Given the description of an element on the screen output the (x, y) to click on. 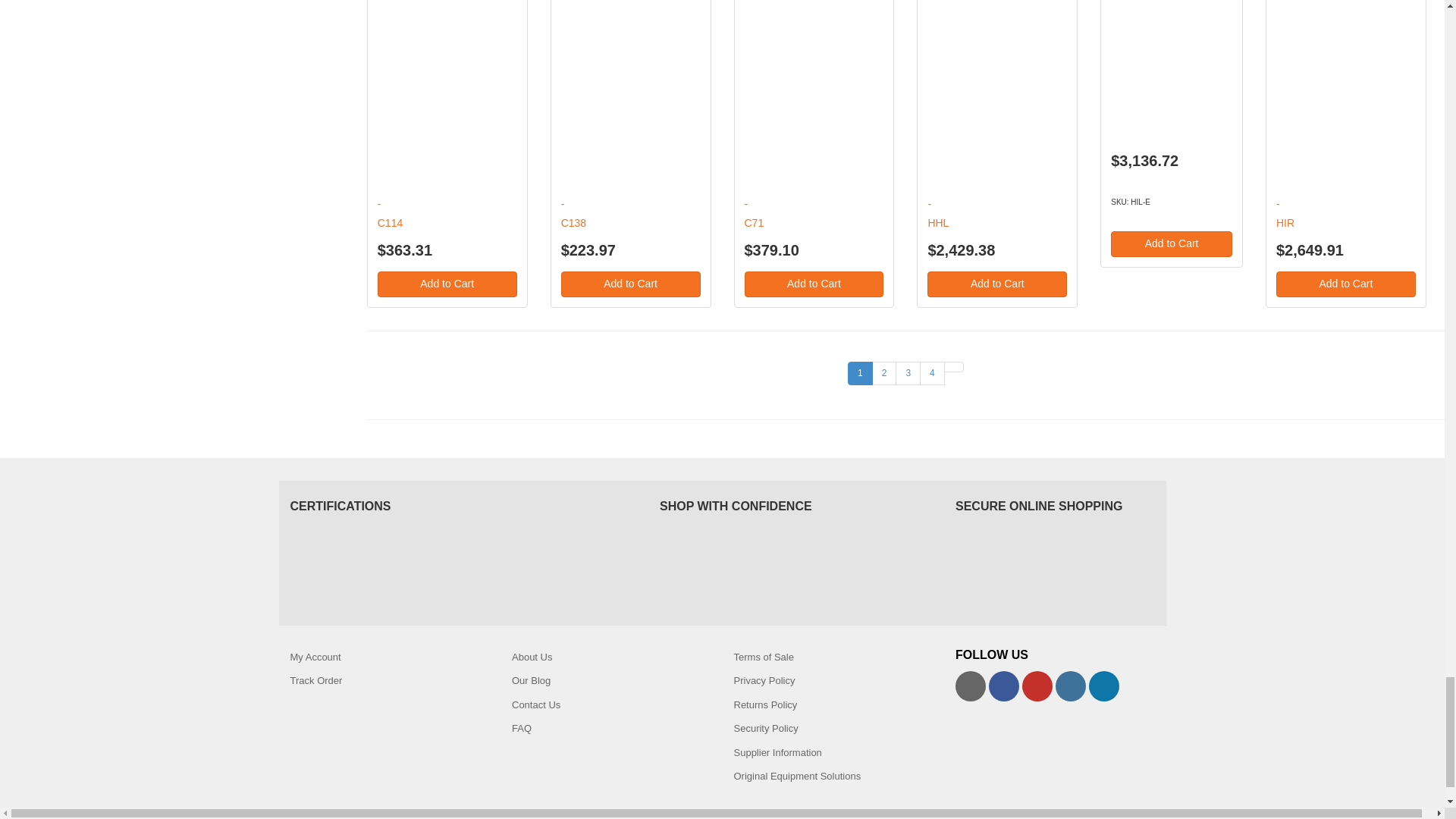
Add  to Cart (446, 284)
Add  to Cart (813, 284)
Add  to Cart (1170, 243)
Email us (970, 685)
Add  to Cart (997, 284)
Add  to Cart (1345, 284)
Add  to Cart (630, 284)
